Given the description of an element on the screen output the (x, y) to click on. 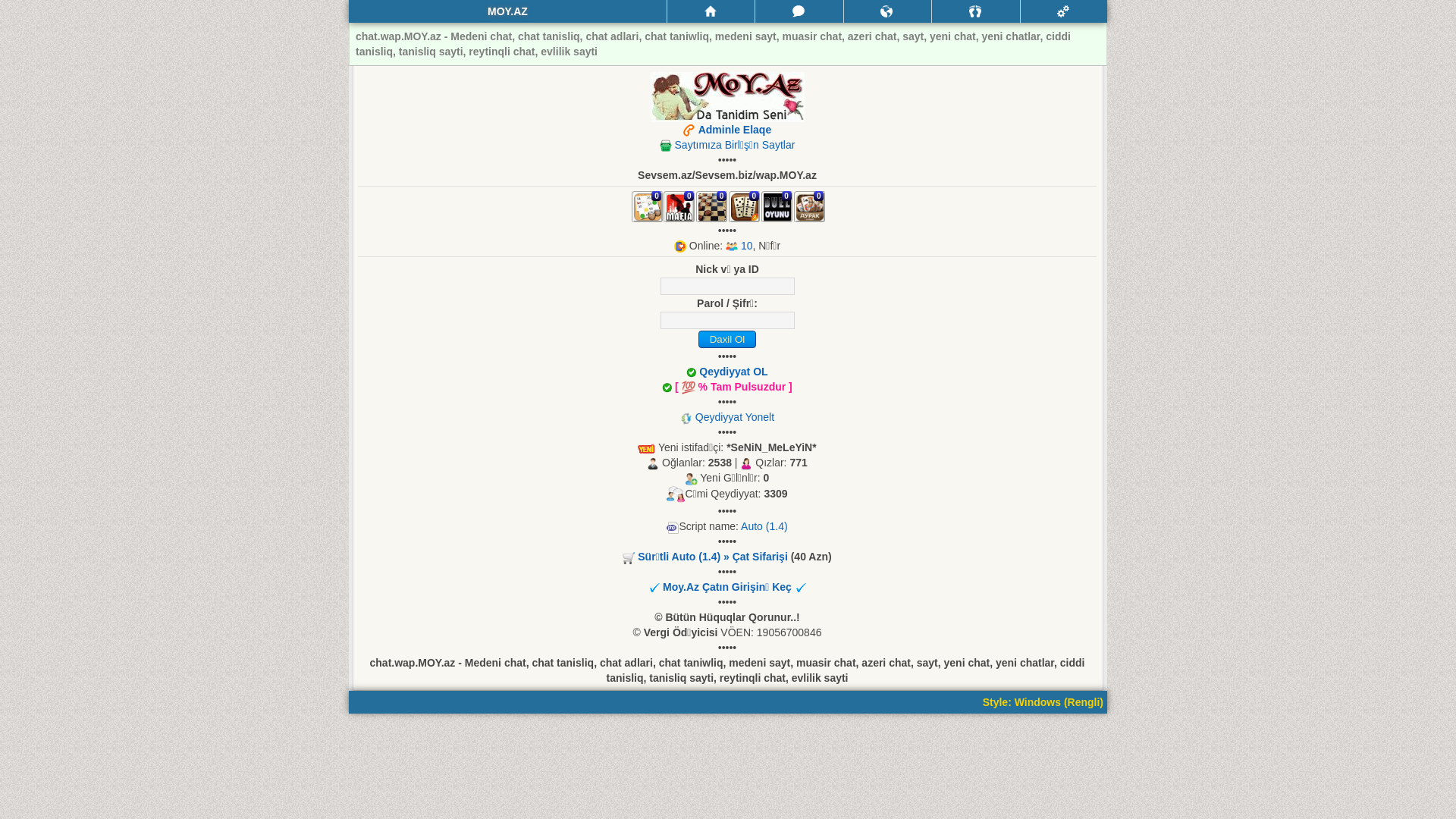
Style: Windows (Rengli) Element type: text (1042, 702)
Mektublar Element type: hover (887, 11)
Parol Element type: hover (726, 320)
Home Element type: hover (710, 11)
Adminle Elaqe Element type: text (734, 129)
MOY.AZ Element type: text (507, 11)
Daxil Ol Element type: text (726, 339)
Qeydiyyat OL Element type: text (733, 371)
Auto (1.4) Element type: text (763, 526)
nick Element type: hover (726, 285)
Qeydiyyat Yonelt Element type: text (734, 417)
Mesajlar Element type: hover (798, 11)
10 Element type: text (746, 245)
Qonaqlar Element type: hover (975, 11)
